Given the description of an element on the screen output the (x, y) to click on. 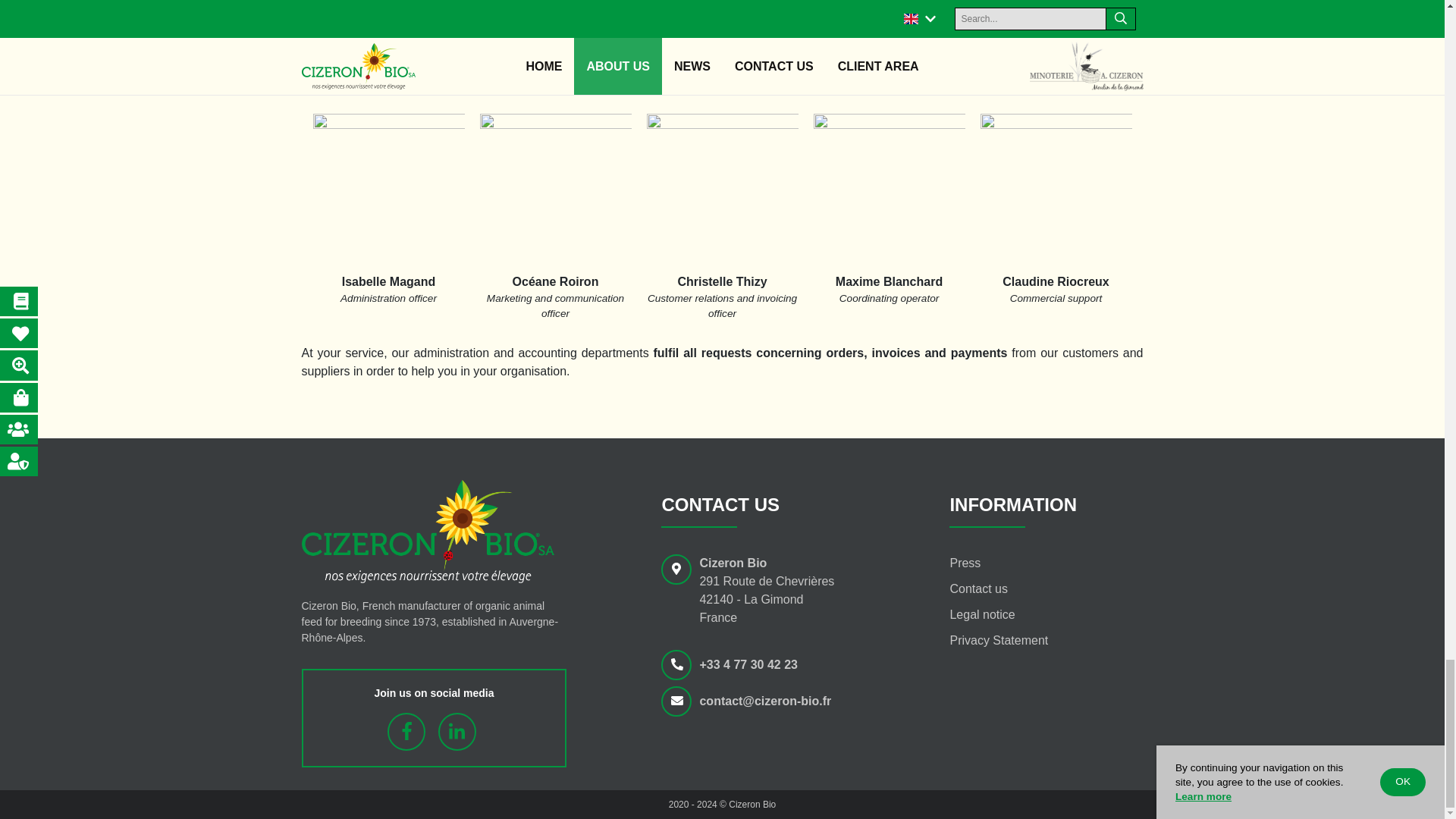
Cizeron Bio sur Facebook (406, 731)
Legal notice (981, 614)
Cizeron Bio sur LinkedIn (457, 731)
Contact us (978, 588)
Press (964, 562)
Privacy Statement (998, 640)
